Given the description of an element on the screen output the (x, y) to click on. 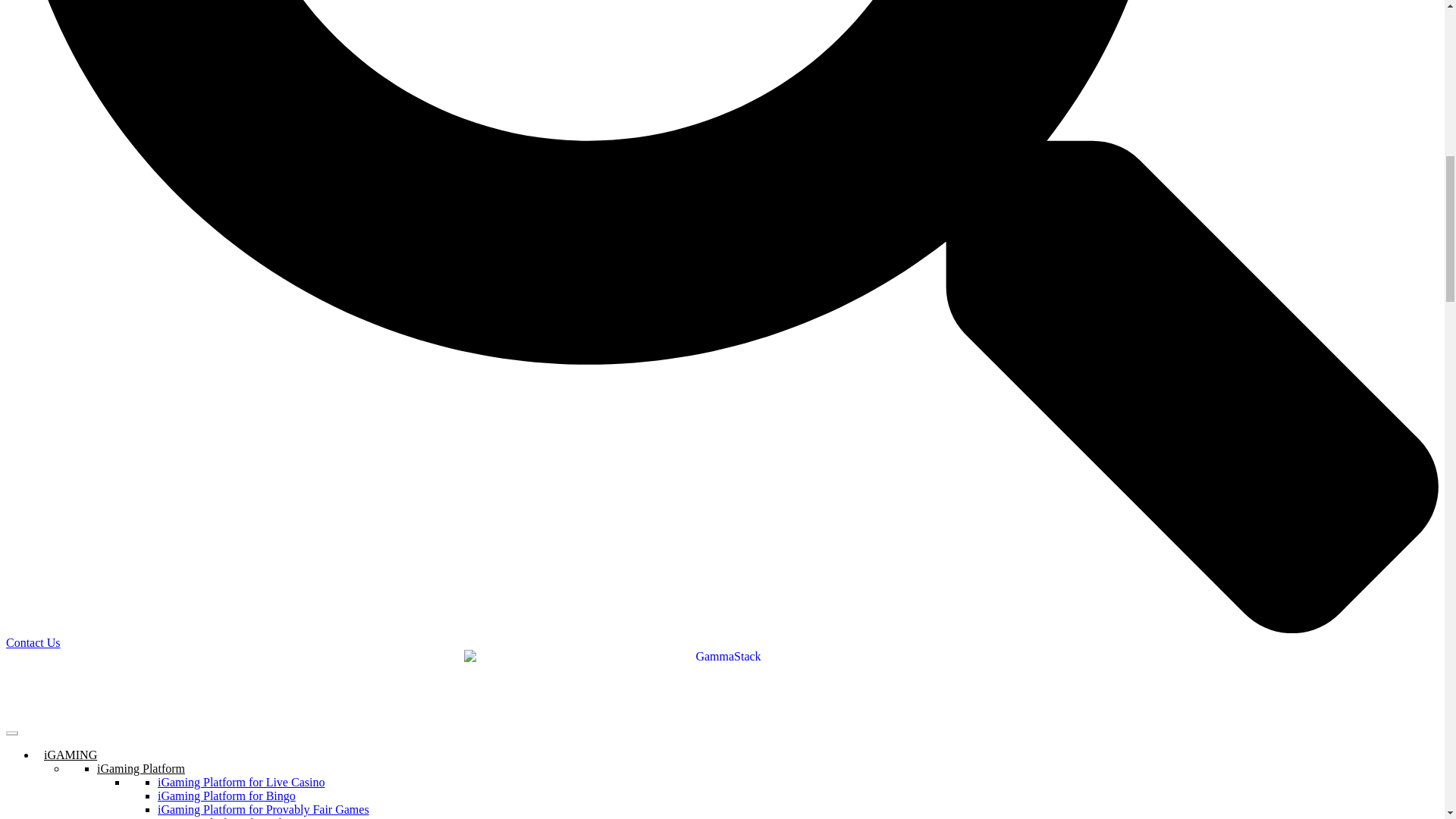
iGaming Platform (140, 768)
iGaming Platform for Bingo (226, 795)
Contact Us (33, 642)
iGaming Platform for Poker (225, 817)
iGaming Platform for Live Casino (240, 781)
iGaming Platform for Provably Fair Games (263, 809)
iGAMING (76, 754)
